Given the description of an element on the screen output the (x, y) to click on. 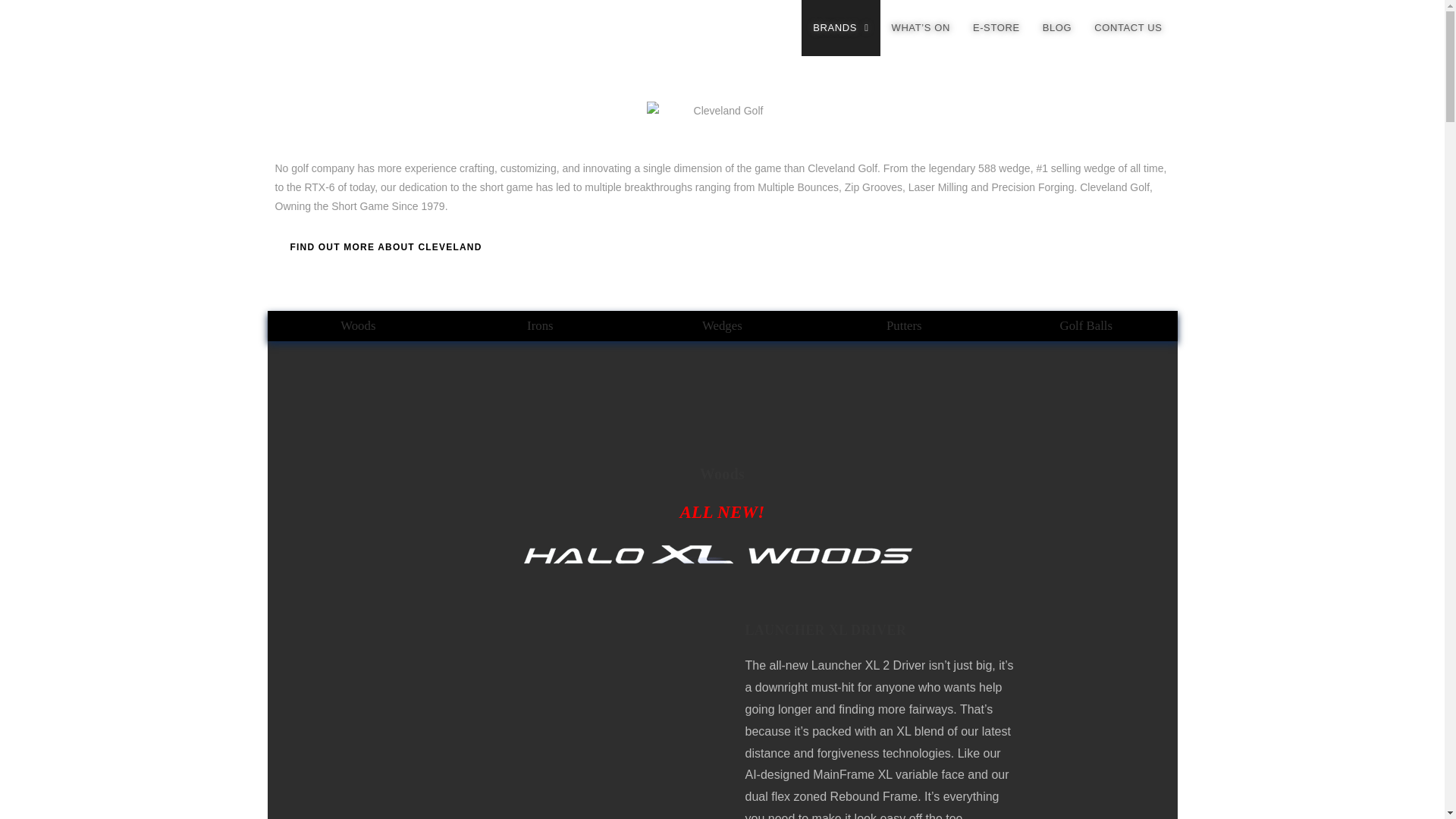
BLOG (1056, 28)
Putters (903, 326)
Home (297, 449)
Blog (293, 515)
CONTACT US (1128, 28)
Privacy Policy (314, 560)
Contact Us (308, 538)
What's On (306, 471)
Irons (539, 326)
E-STORE (995, 28)
FIND OUT MORE ABOUT CLEVELAND (385, 246)
E-Store (301, 493)
Wedges (721, 326)
Woods (357, 326)
Golf Balls (1085, 326)
